Given the description of an element on the screen output the (x, y) to click on. 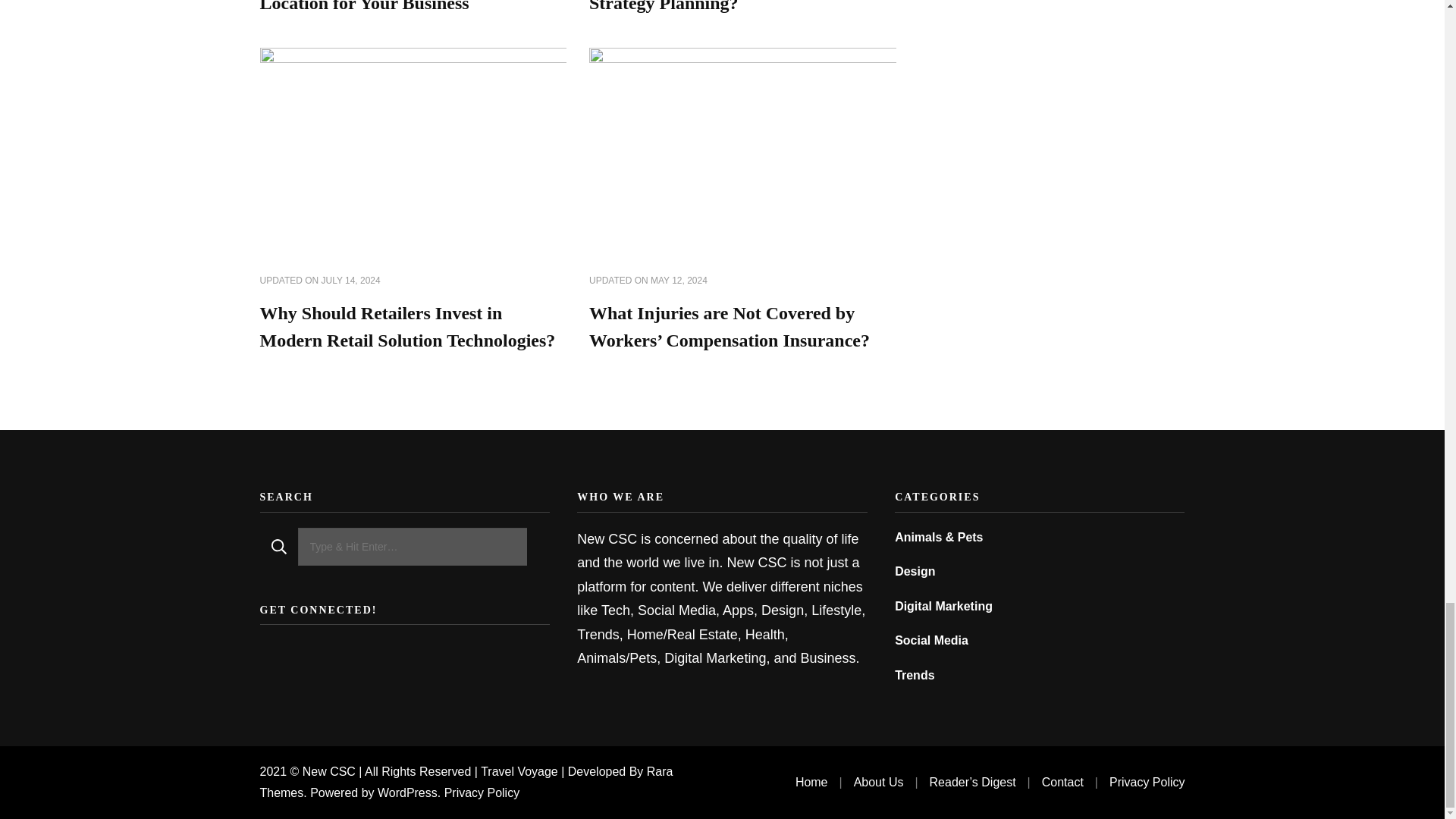
Search (278, 546)
Who Should You Consult for IT Strategy Planning? (712, 6)
Search (278, 546)
